Given the description of an element on the screen output the (x, y) to click on. 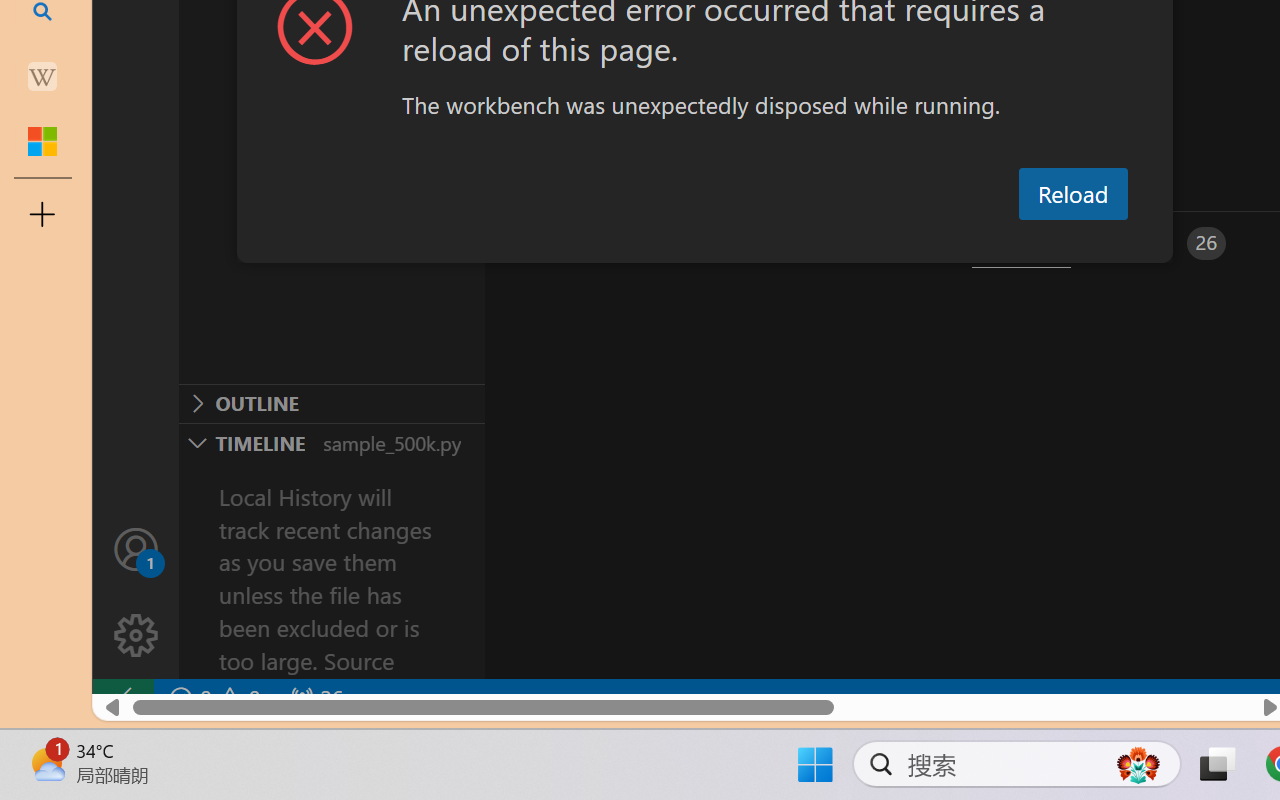
Accounts - Sign in requested (135, 548)
No Problems (212, 698)
Reload (1071, 193)
Output (Ctrl+Shift+U) (696, 243)
Debug Console (Ctrl+Shift+Y) (854, 243)
Ports - 26 forwarded ports (1165, 243)
